Given the description of an element on the screen output the (x, y) to click on. 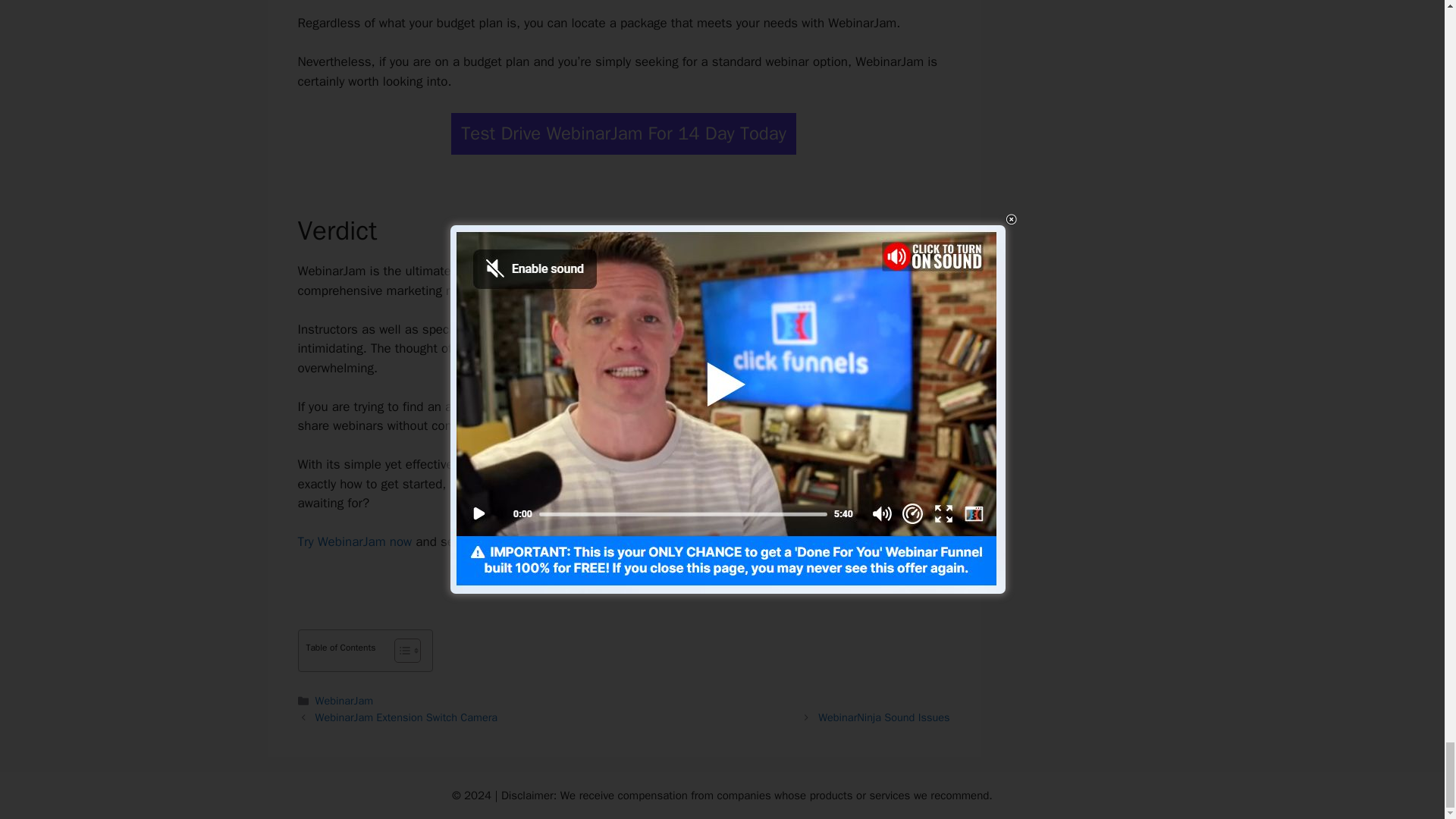
webinar software program (573, 406)
Test Drive WebinarJam For 14 Day Today (623, 133)
Try WebinarJam now (354, 541)
